Given the description of an element on the screen output the (x, y) to click on. 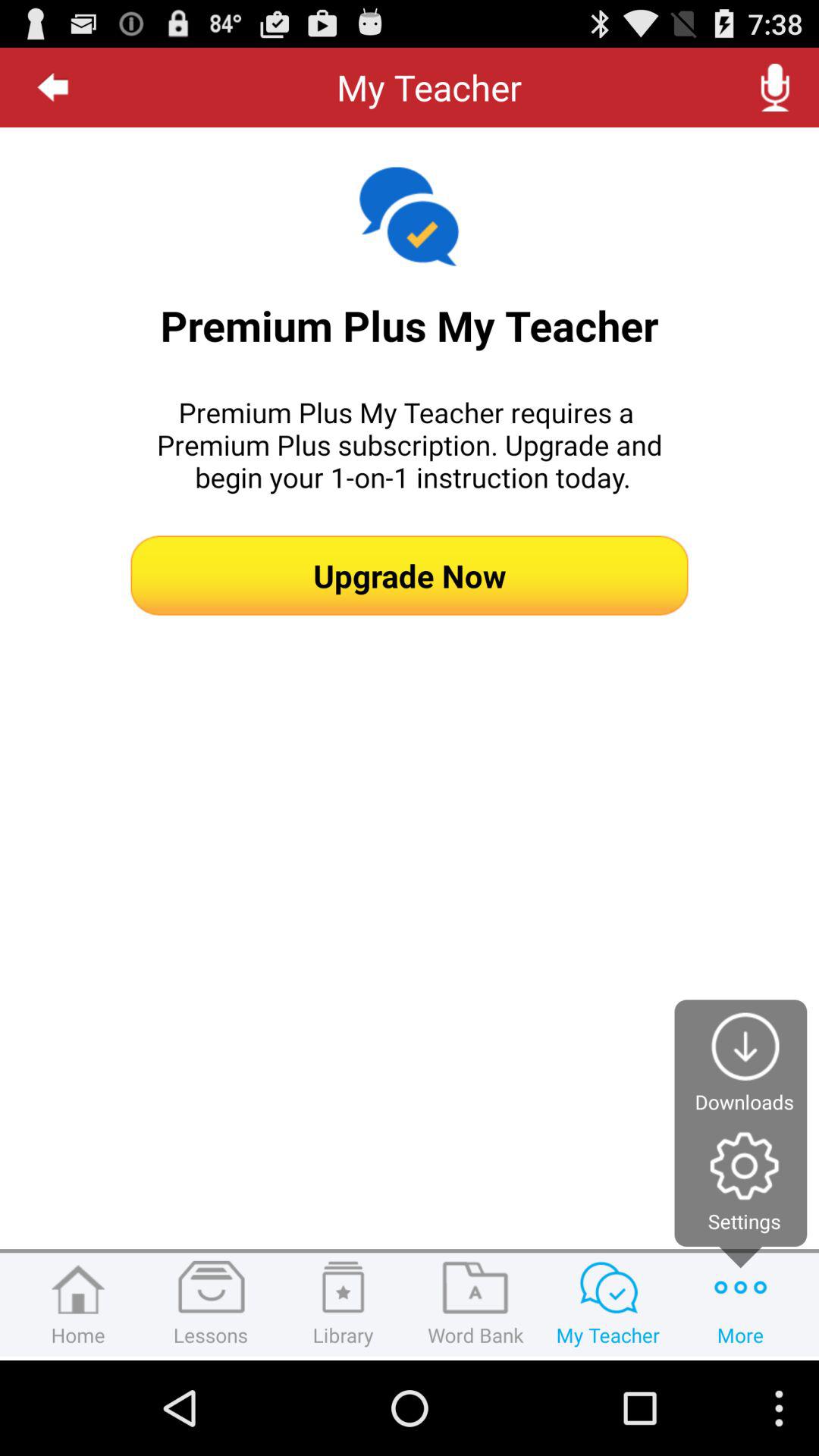
turn off the app below premium plus my (409, 575)
